Given the description of an element on the screen output the (x, y) to click on. 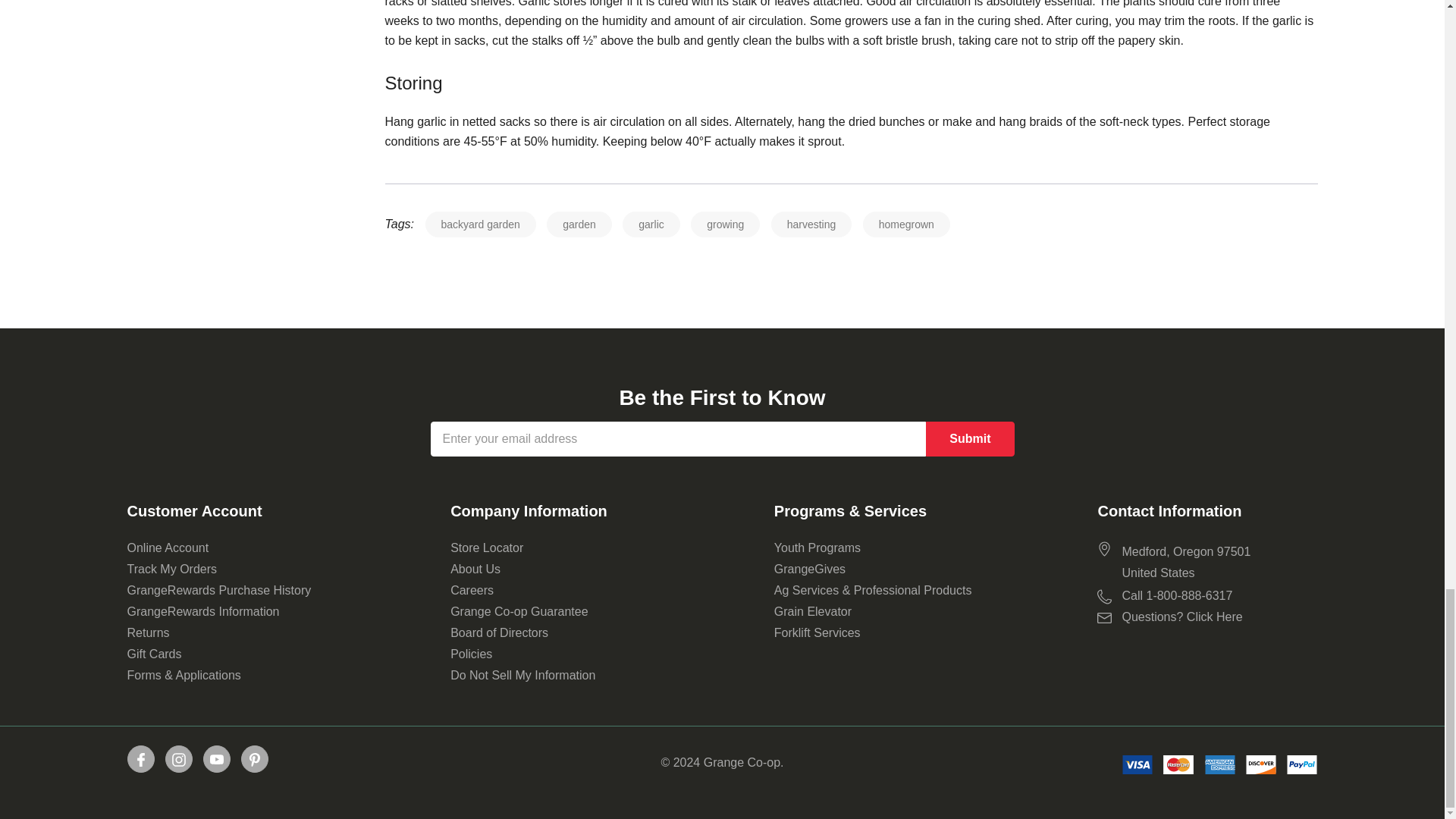
Submit (969, 438)
Open Youtube in a new tab (215, 759)
Open Instagram in a new tab (177, 759)
Open Pinterest in a new tab (253, 759)
Open Facebook in a new tab (140, 759)
